Given the description of an element on the screen output the (x, y) to click on. 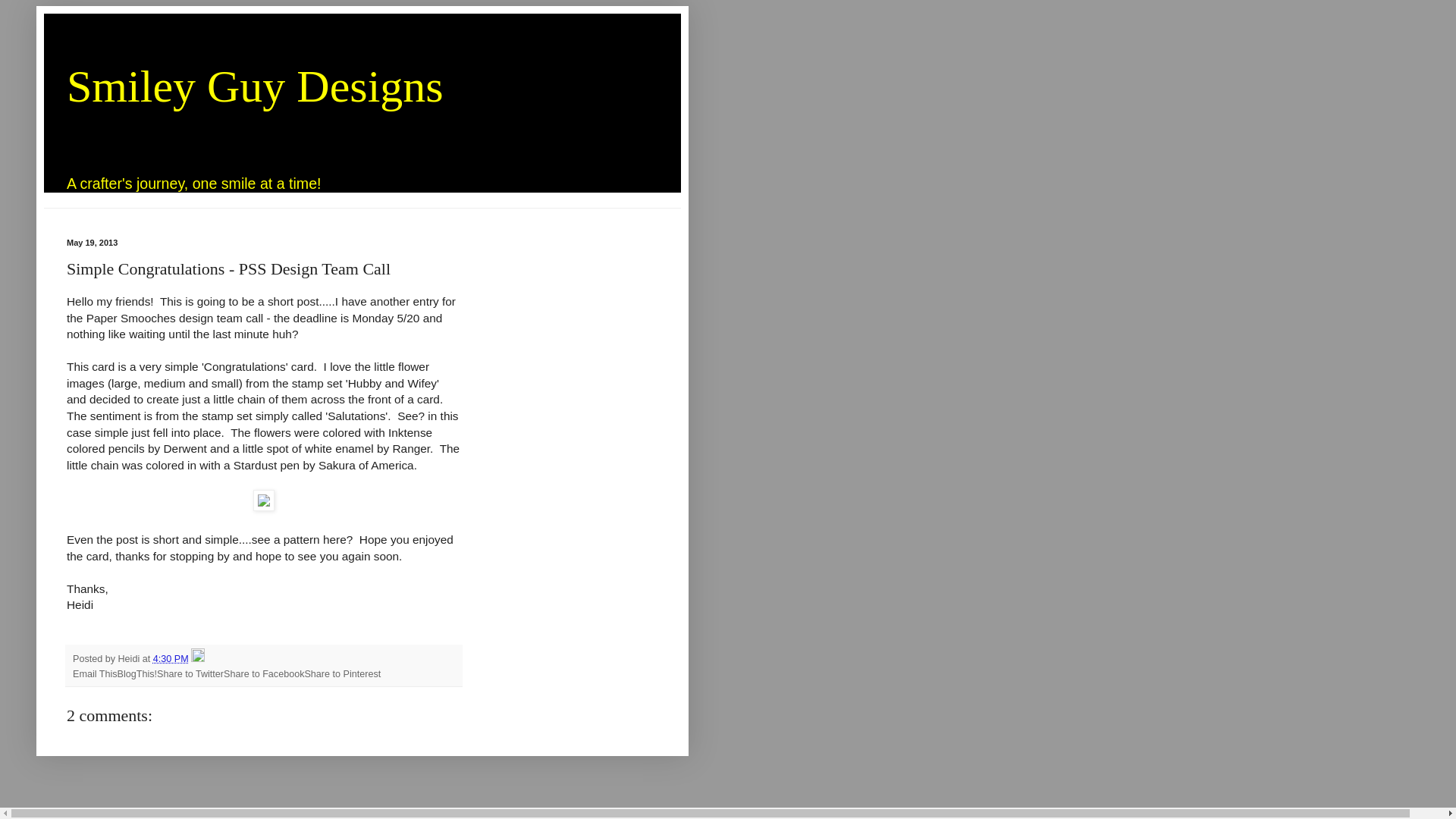
permanent link (170, 658)
Share to Facebook (264, 674)
Share to Twitter (190, 674)
Email This (94, 674)
Share to Facebook (264, 674)
BlogThis! (137, 674)
author profile (129, 658)
Share to Pinterest (342, 674)
BlogThis! (137, 674)
Share to Pinterest (342, 674)
